Given the description of an element on the screen output the (x, y) to click on. 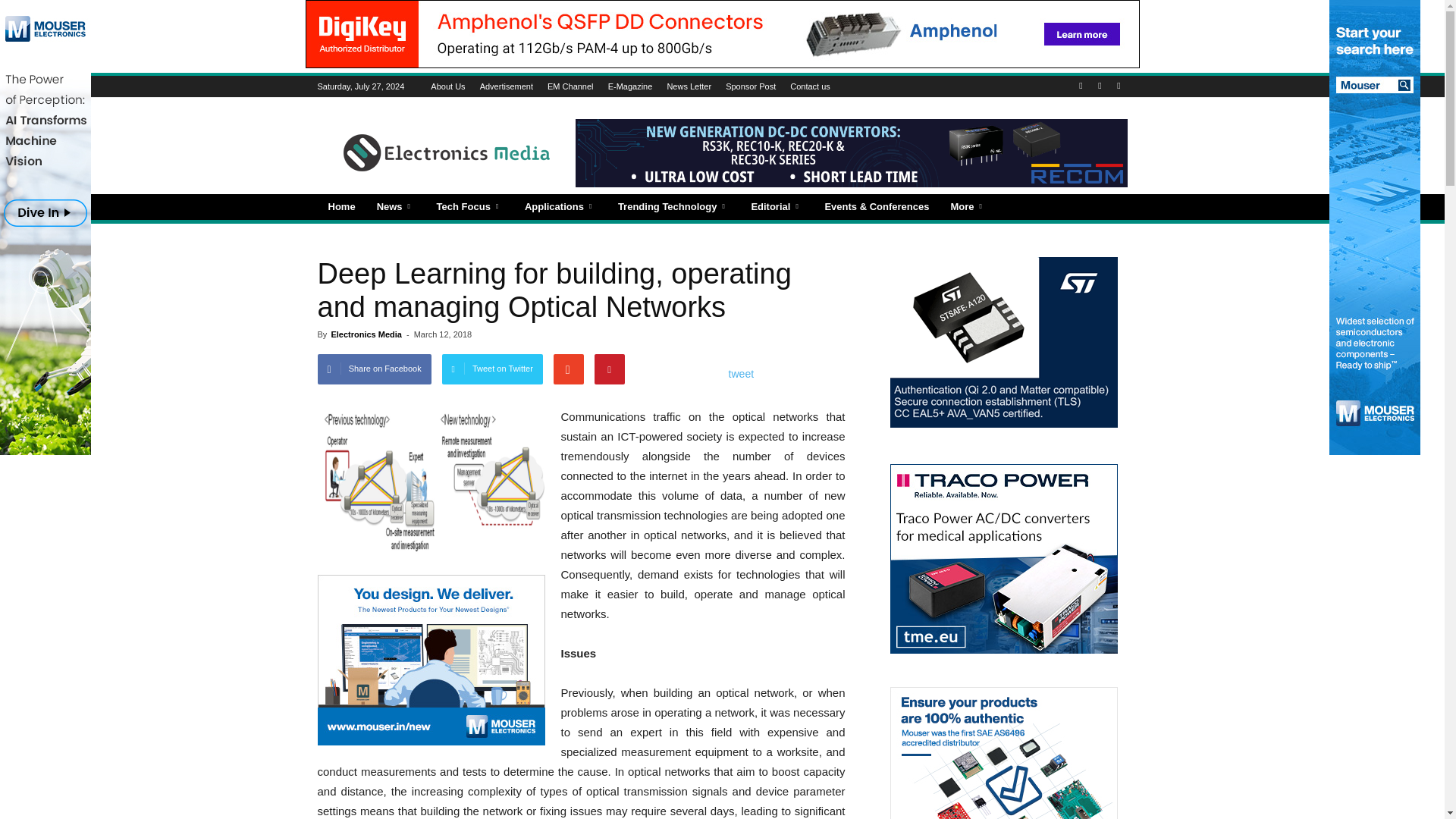
advertisement (430, 659)
optical transmission technologies (430, 482)
